Given the description of an element on the screen output the (x, y) to click on. 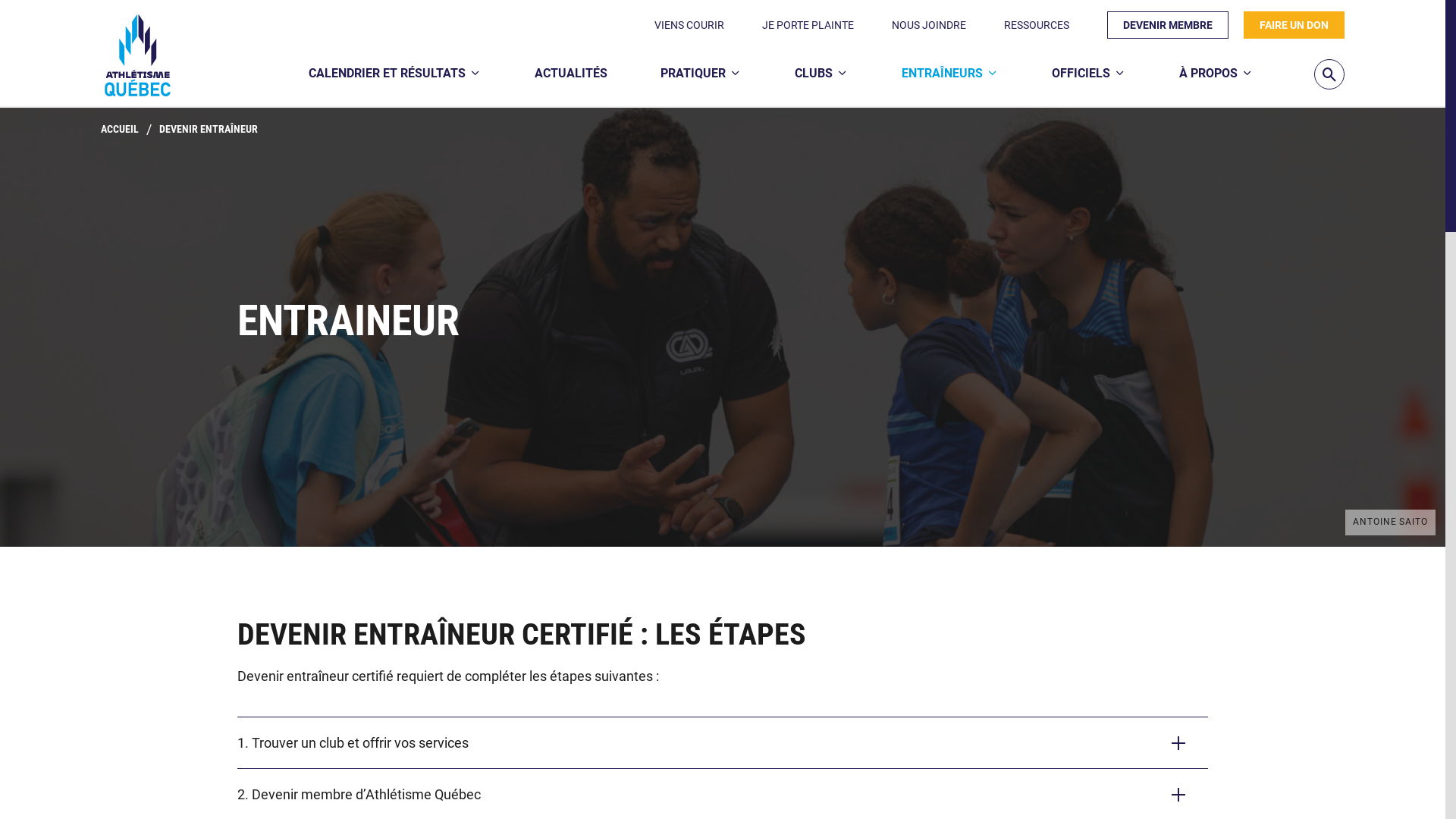
JE PORTE PLAINTE Element type: text (807, 24)
RESSOURCES Element type: text (1036, 24)
CLUBS Element type: text (821, 73)
VIENS COURIR Element type: text (689, 24)
ACCUEIL Element type: text (119, 129)
DEVENIR MEMBRE Element type: text (1167, 24)
NOUS JOINDRE Element type: text (928, 24)
FAIRE UN DON Element type: text (1293, 24)
OFFICIELS Element type: text (1088, 73)
PRATIQUER Element type: text (700, 73)
